Given the description of an element on the screen output the (x, y) to click on. 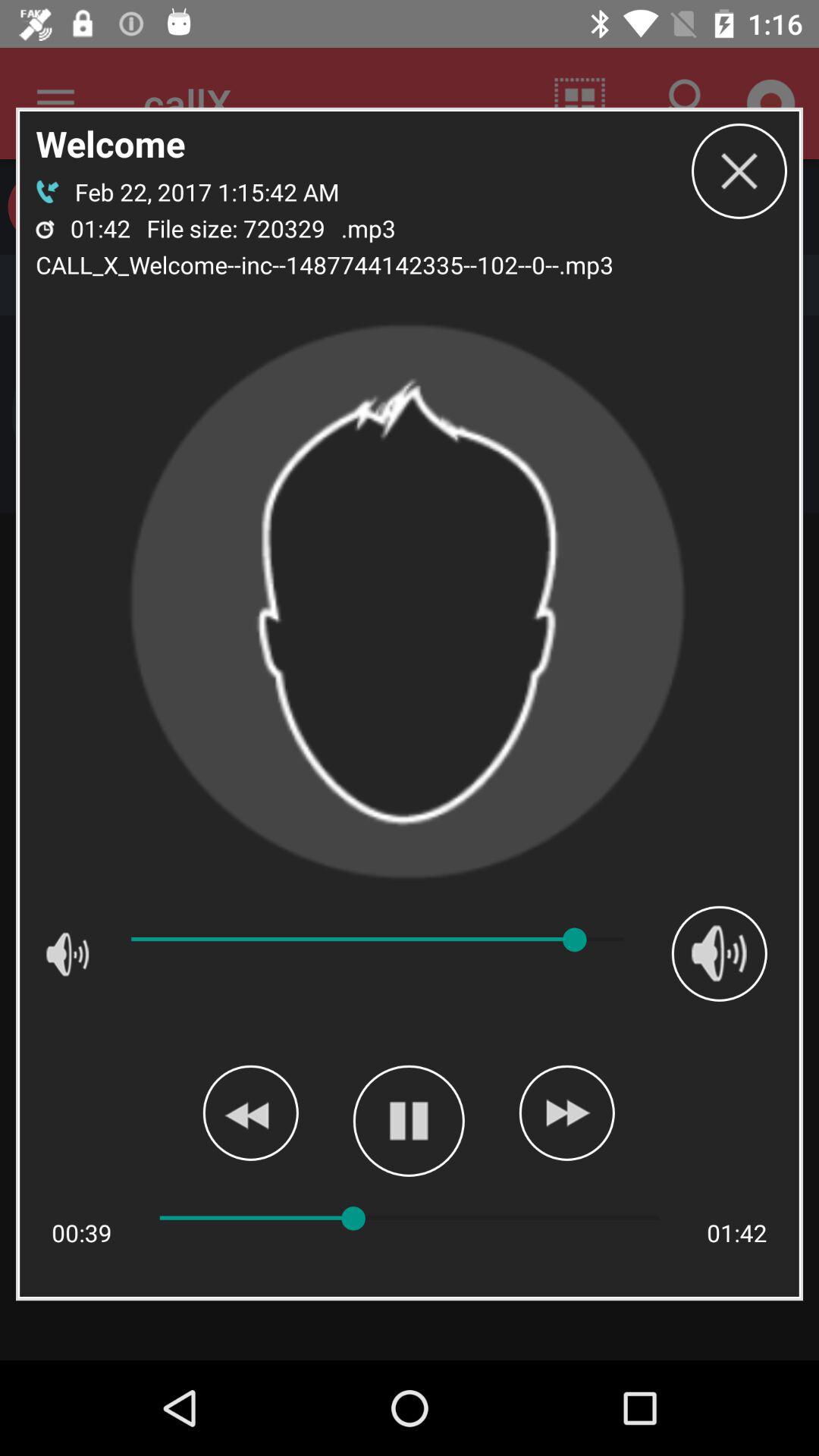
turn off icon next to the .mp3 icon (739, 170)
